Given the description of an element on the screen output the (x, y) to click on. 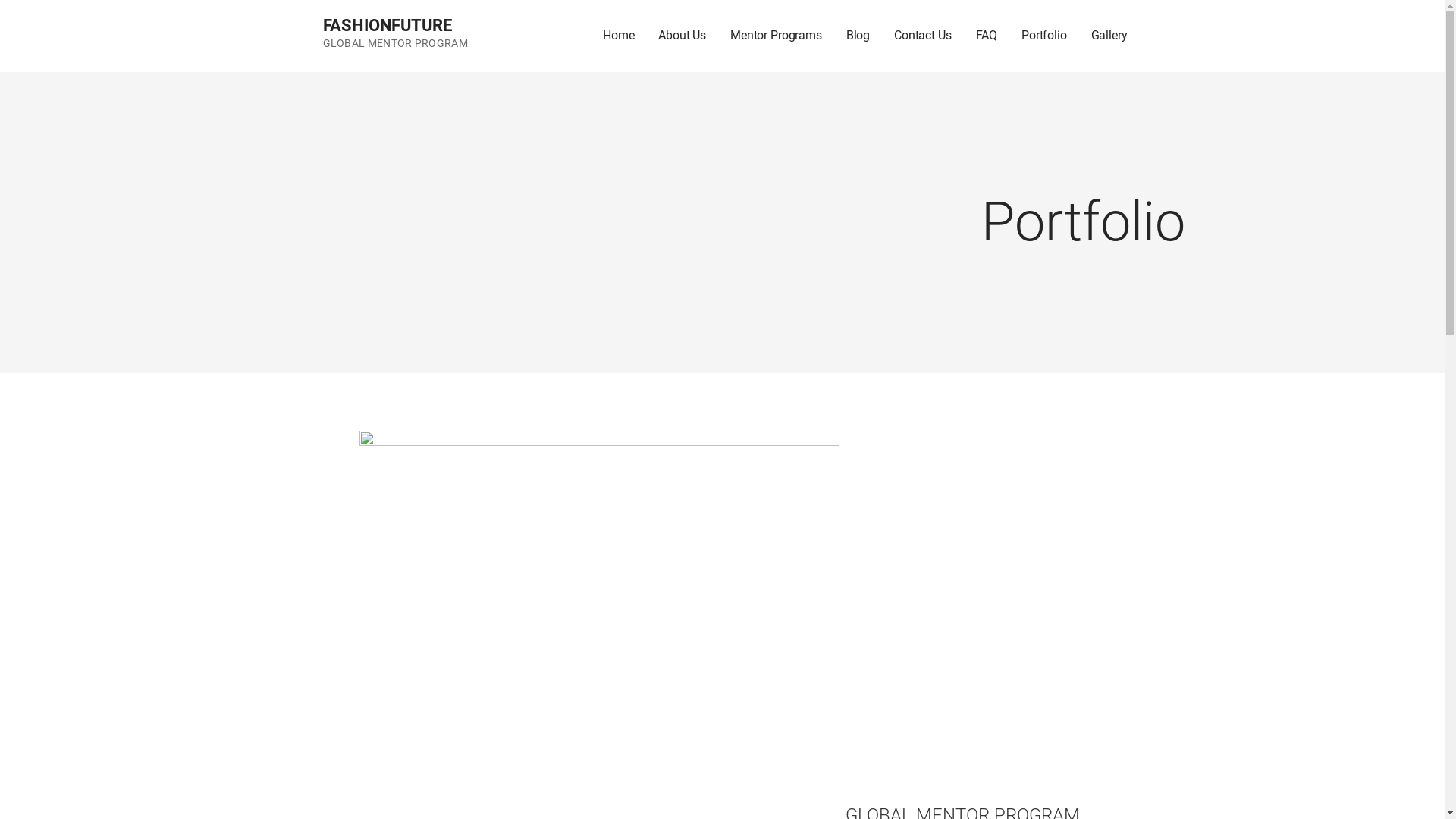
Portfolio Element type: text (1044, 36)
Home Element type: text (618, 36)
Contact Us Element type: text (922, 36)
FASHIONFUTURE Element type: text (387, 24)
Mentor Programs Element type: text (776, 36)
Skip to content Element type: text (0, 0)
FAQ Element type: text (986, 36)
About Us Element type: text (682, 36)
Blog Element type: text (857, 36)
Gallery Element type: text (1109, 36)
